Given the description of an element on the screen output the (x, y) to click on. 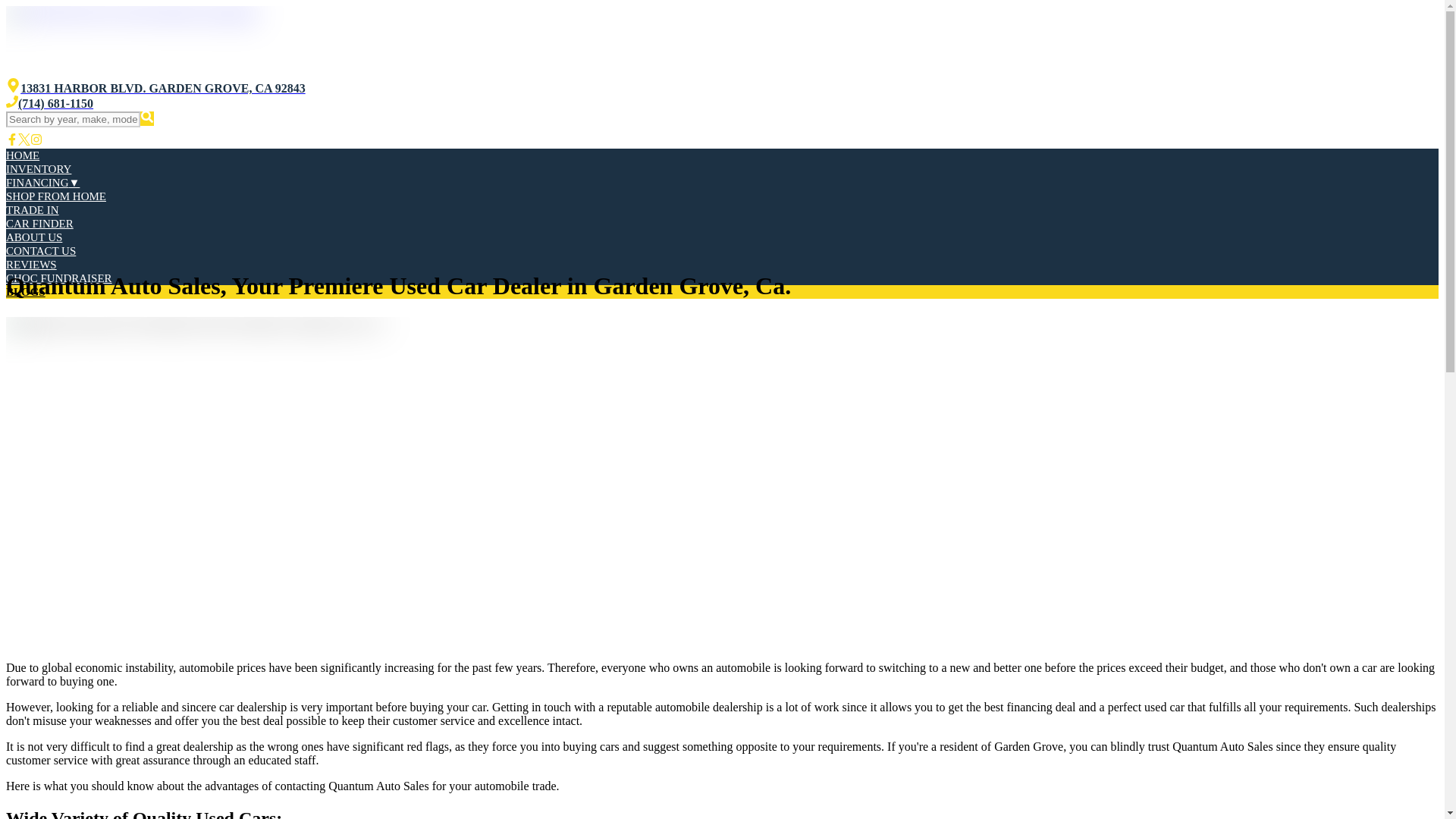
ABOUT US (33, 236)
13831 HARBOR BLVD. GARDEN GROVE, CA 92843 (155, 88)
TRADE IN (32, 209)
BLOGS (25, 291)
INVENTORY (38, 168)
REVIEWS (30, 264)
CONTACT US (40, 250)
SHOP FROM HOME (55, 196)
HOME (22, 155)
CHOC FUNDRAISER (58, 277)
